Given the description of an element on the screen output the (x, y) to click on. 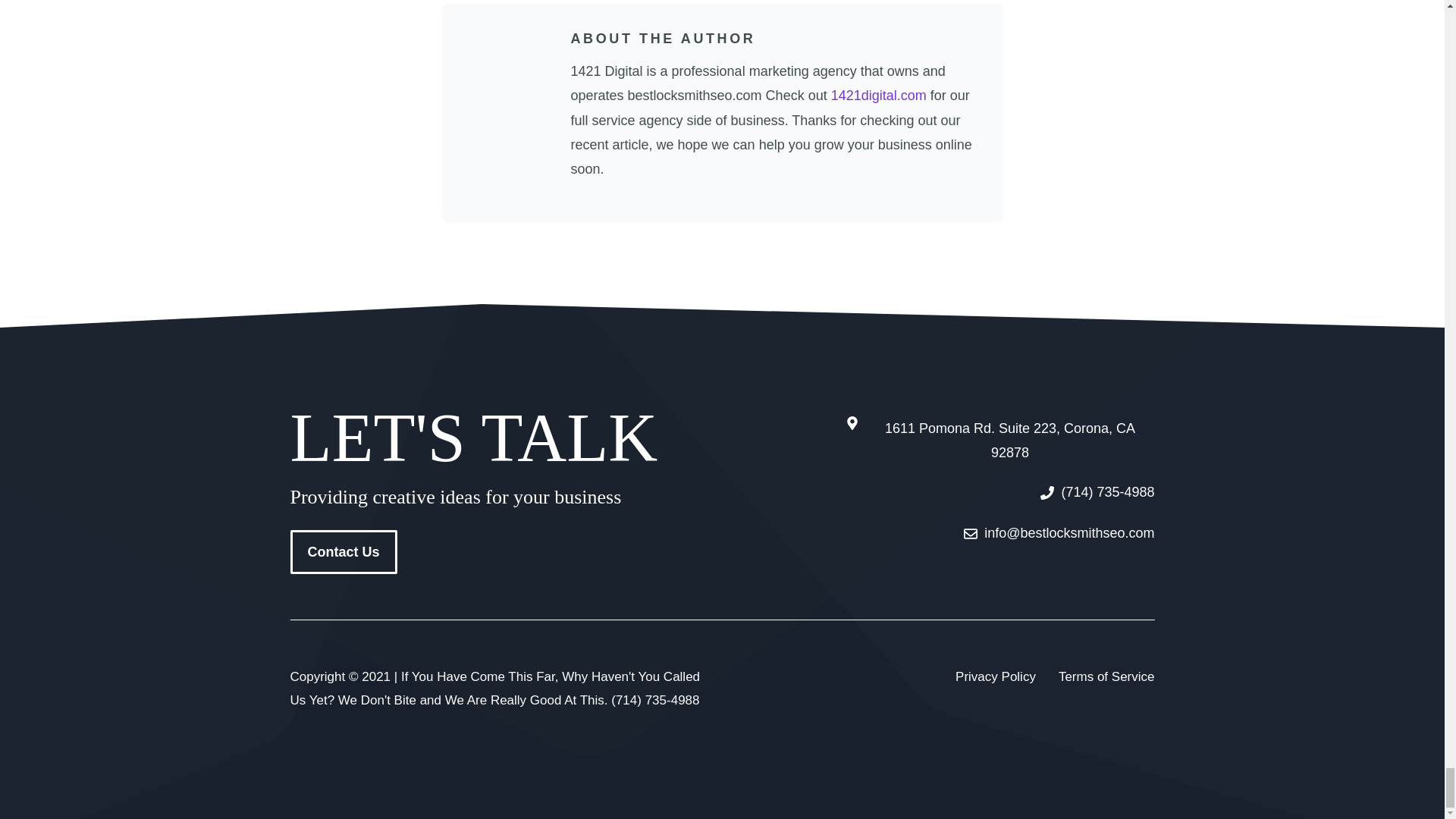
Privacy Policy (995, 677)
Contact Us (342, 551)
1421digital.com (878, 95)
